Given the description of an element on the screen output the (x, y) to click on. 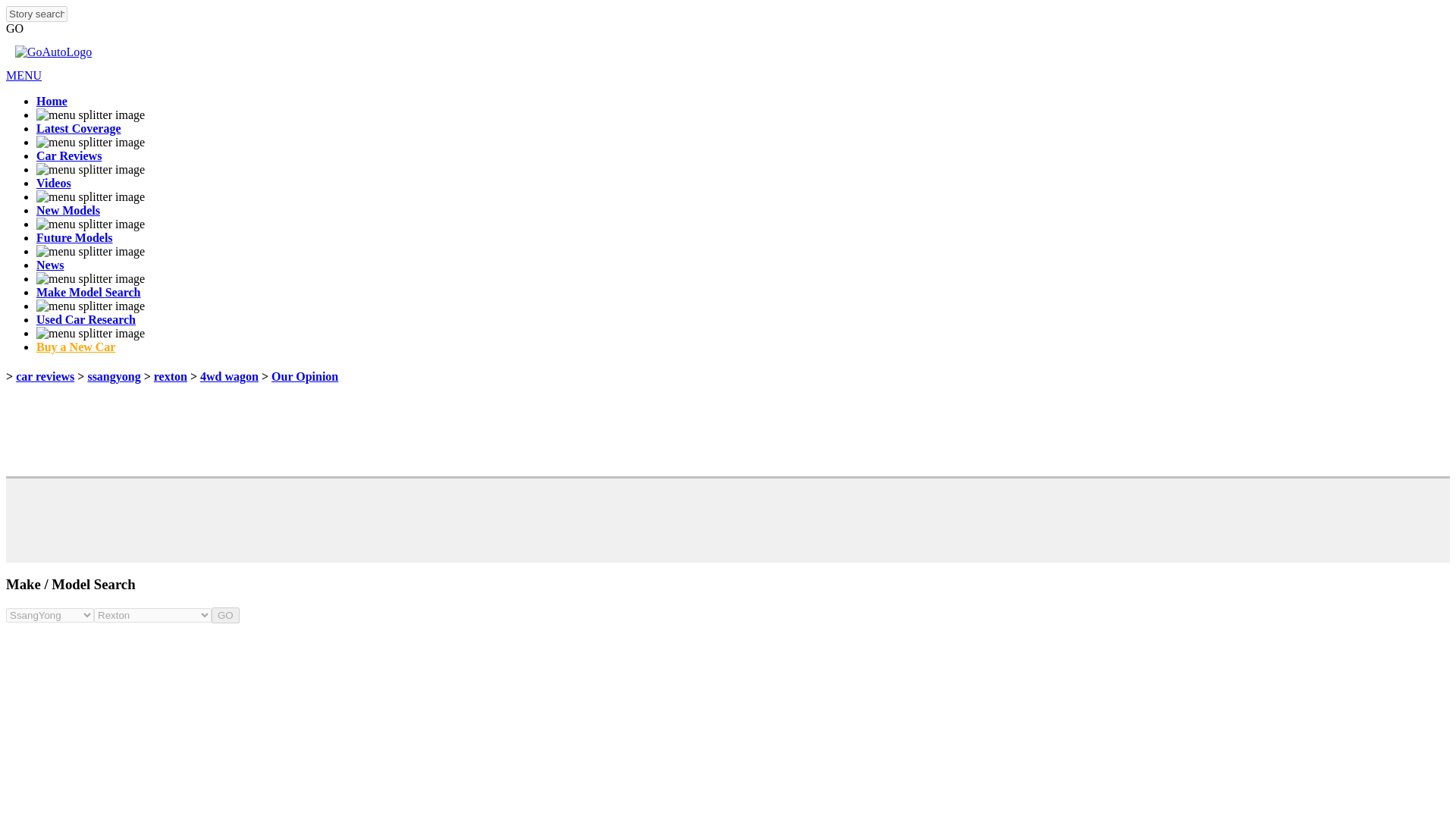
Used Car Research (85, 318)
Latest Coverage (78, 128)
Home (51, 101)
New Models (68, 210)
4wd wagon (229, 376)
Story search (35, 13)
Buy a New Car (75, 346)
